Given the description of an element on the screen output the (x, y) to click on. 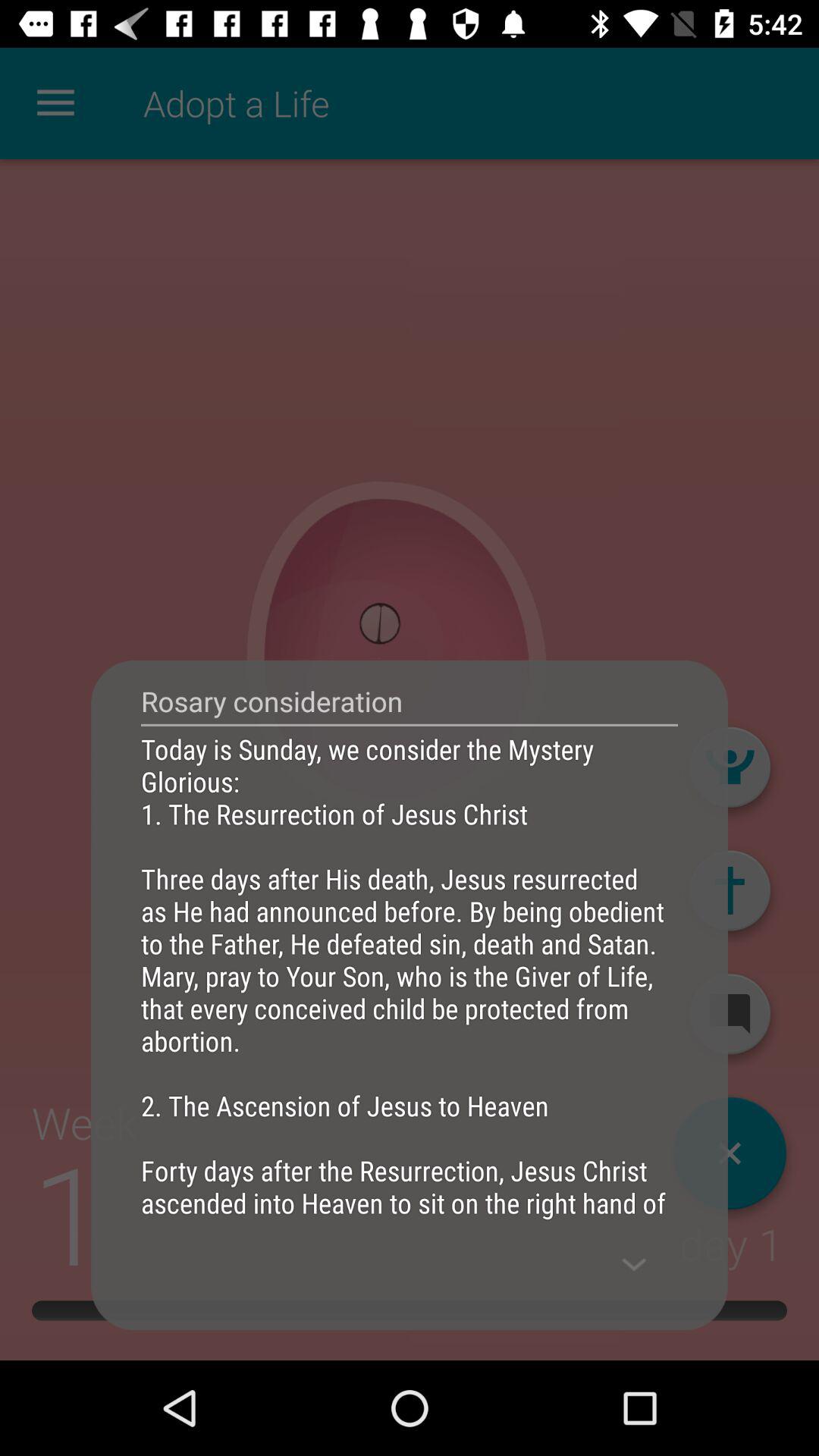
flip to the today is sunday item (409, 975)
